Given the description of an element on the screen output the (x, y) to click on. 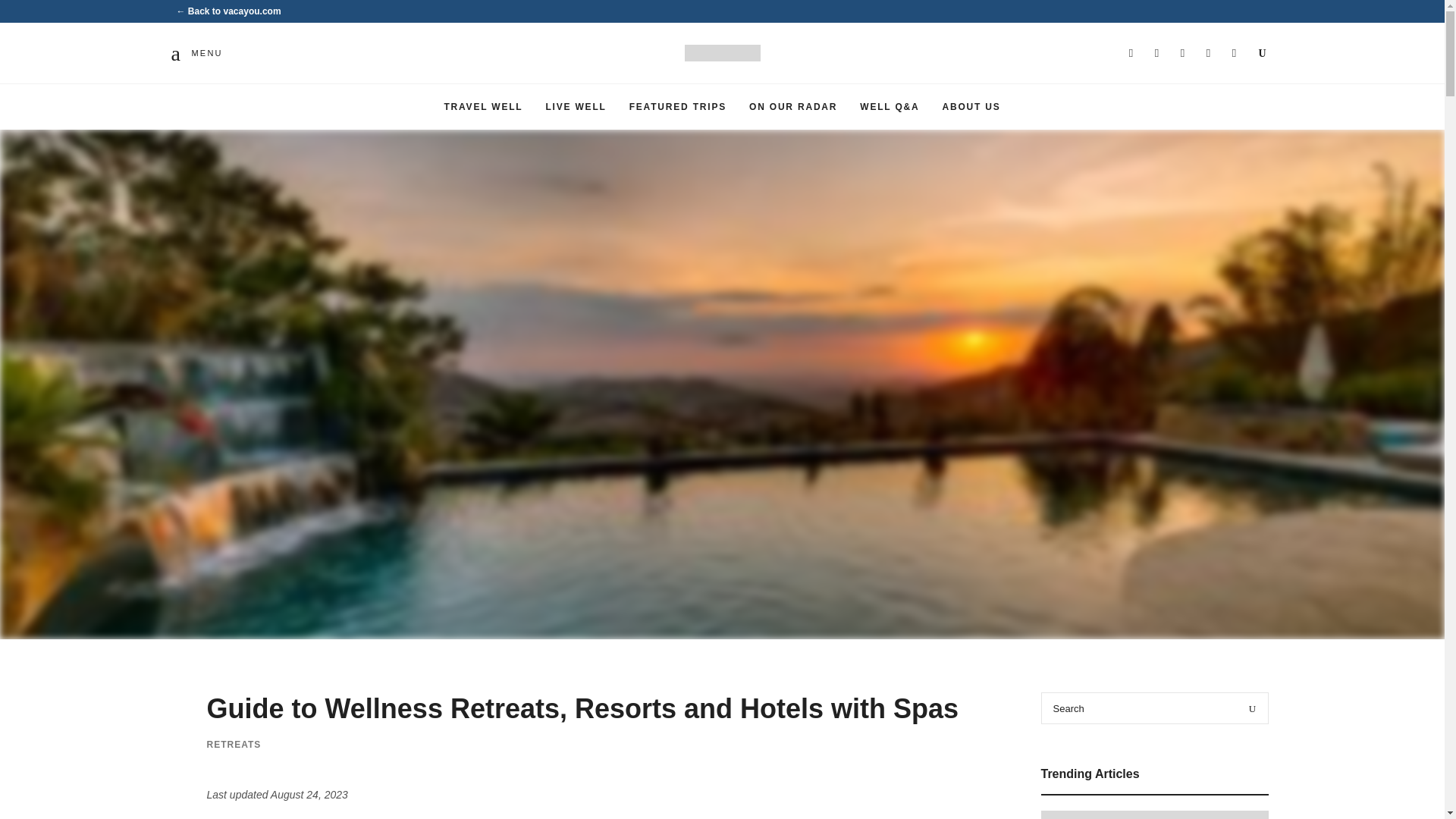
TWITTER (1182, 53)
FEATURED TRIPS (677, 106)
MENU (199, 53)
LIVE WELL (575, 106)
ABOUT US (970, 106)
FACEBOOK (1157, 53)
PINTEREST (1208, 53)
RSS (1234, 53)
TRAVEL WELL (483, 106)
VACAYOU TRAVEL (818, 73)
ON OUR RADAR (793, 106)
RETREATS (233, 744)
INSTAGRAM (1131, 53)
